Given the description of an element on the screen output the (x, y) to click on. 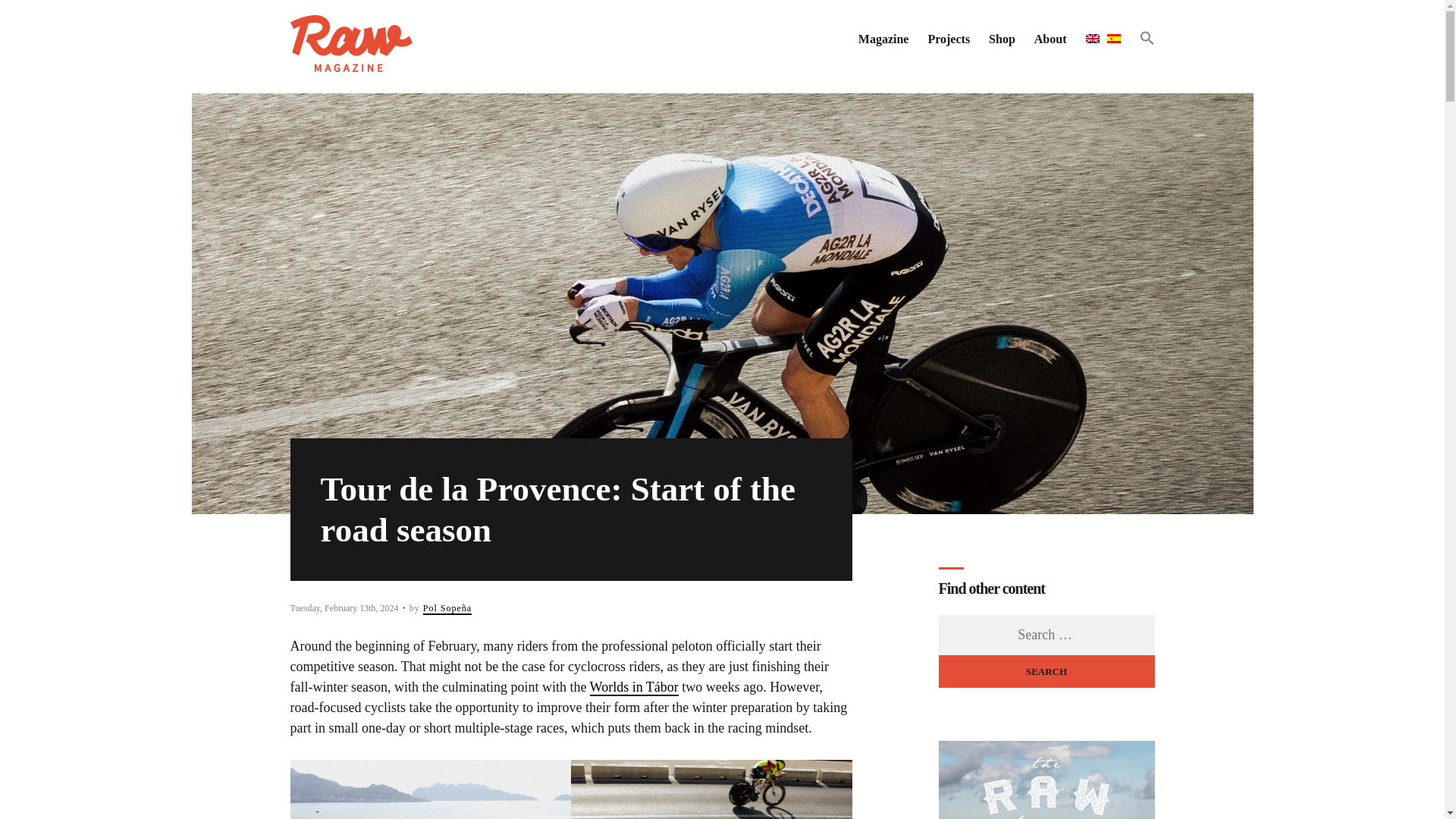
Shop (1001, 39)
Magazine (883, 39)
About (1050, 39)
Search (1046, 671)
Projects (948, 39)
Search (1046, 671)
